Given the description of an element on the screen output the (x, y) to click on. 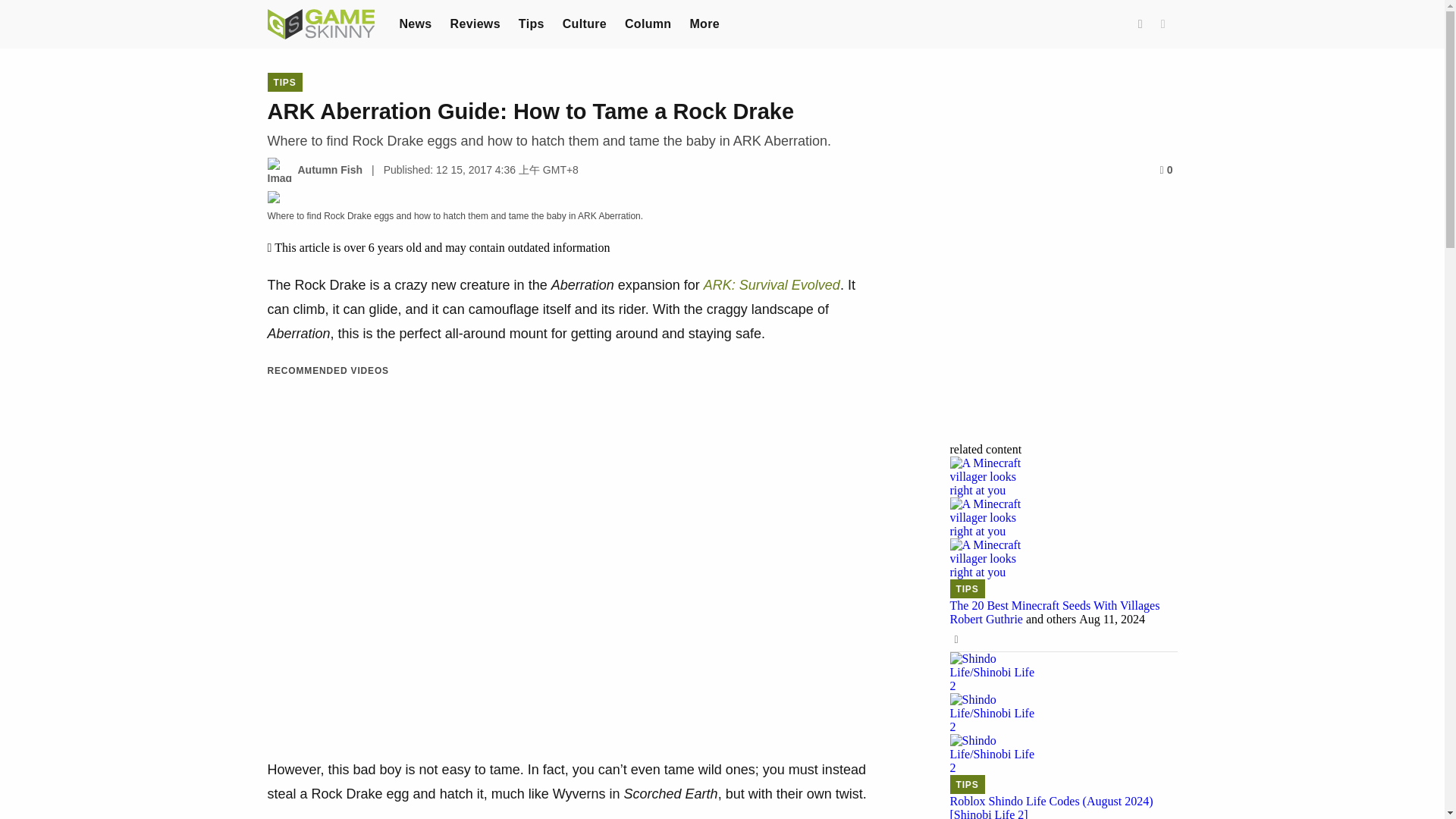
Reviews (474, 23)
Tips (531, 23)
Culture (584, 23)
Column (647, 23)
News (414, 23)
